Given the description of an element on the screen output the (x, y) to click on. 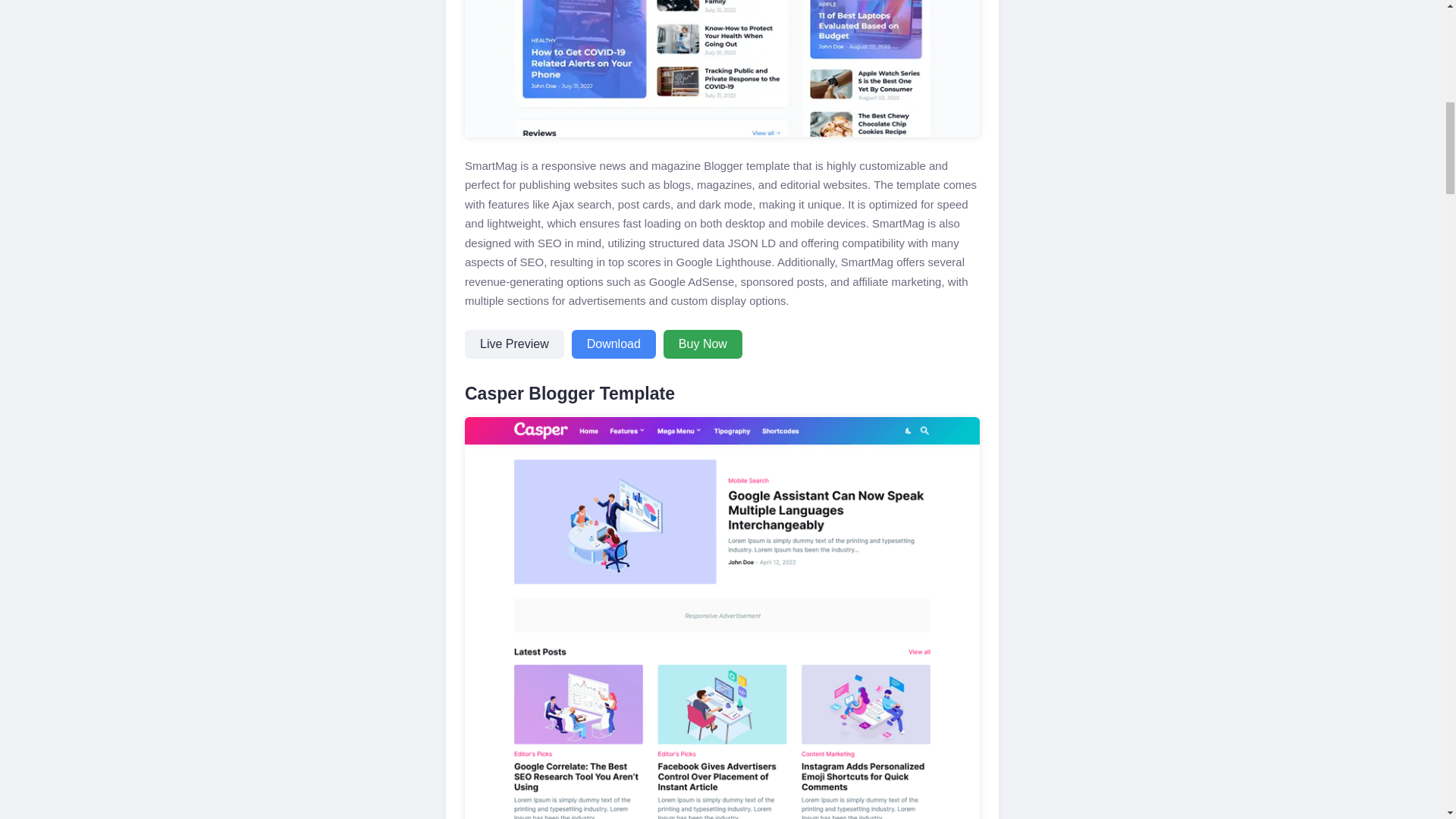
Buy Now (702, 344)
SmartMag Blogger Template (721, 68)
Live Preview (514, 344)
Download (614, 344)
